Given the description of an element on the screen output the (x, y) to click on. 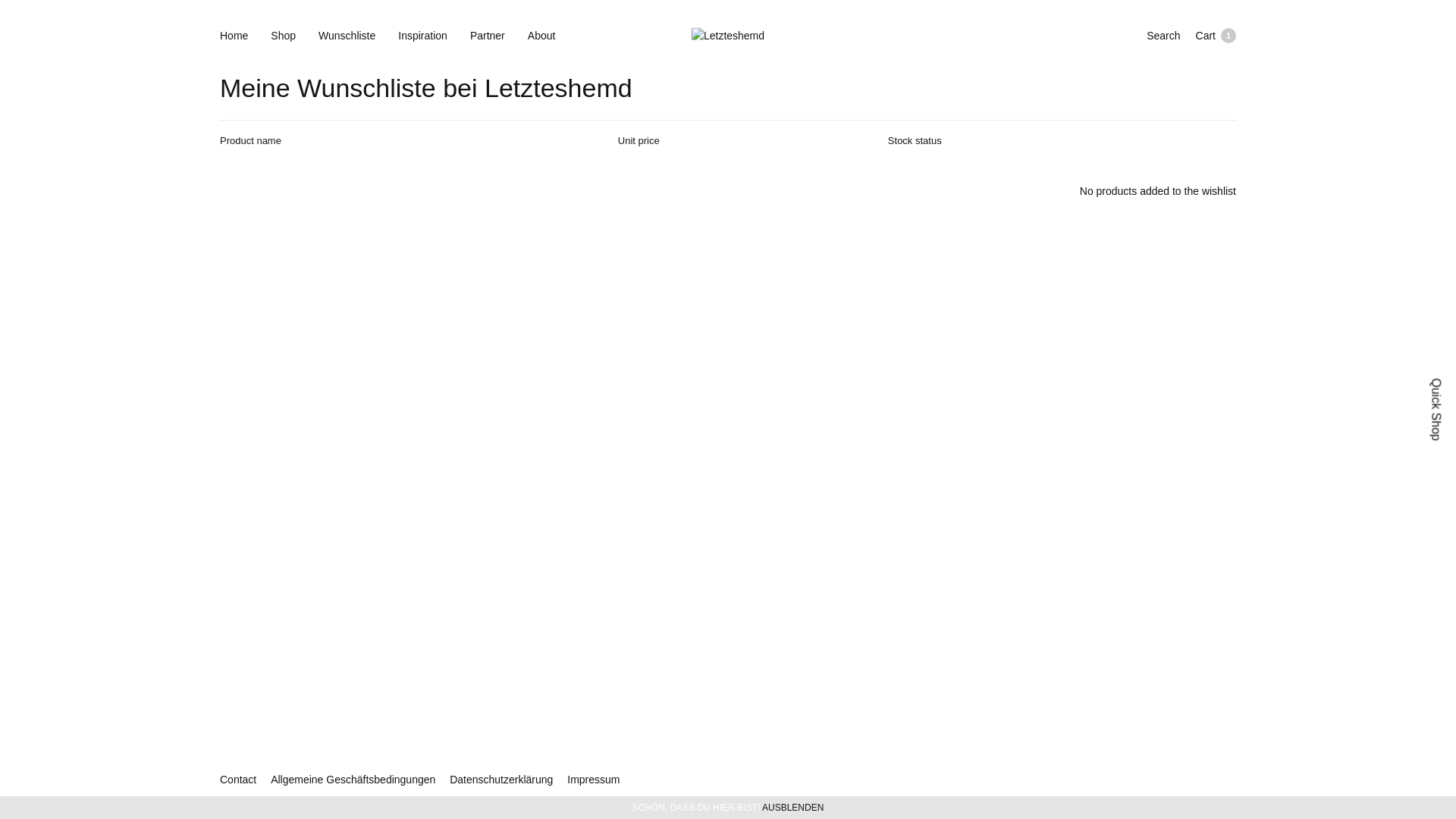
Search Element type: text (1162, 35)
Home Element type: text (233, 35)
Cart
1 Element type: text (1215, 35)
Shop Element type: text (282, 35)
Partner Element type: text (487, 35)
Impressum Element type: text (593, 779)
Search Element type: text (19, 6)
AUSBLENDEN Element type: text (792, 807)
About Element type: text (541, 35)
Inspiration Element type: text (422, 35)
Wunschliste Element type: text (346, 35)
Contact Element type: text (237, 779)
